Given the description of an element on the screen output the (x, y) to click on. 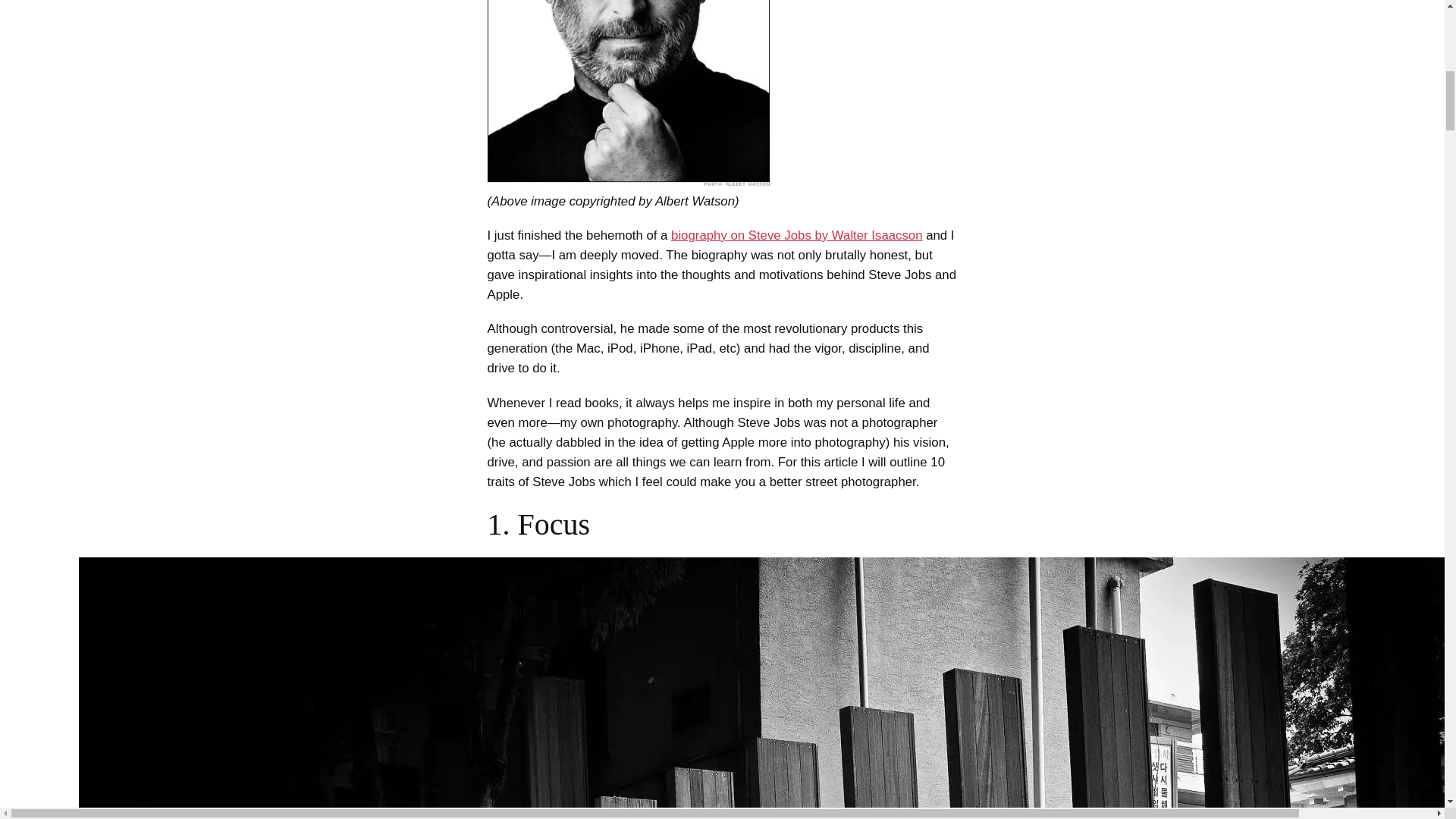
steve-jobs (627, 92)
biography on Steve Jobs by Walter Isaacson (796, 235)
